Given the description of an element on the screen output the (x, y) to click on. 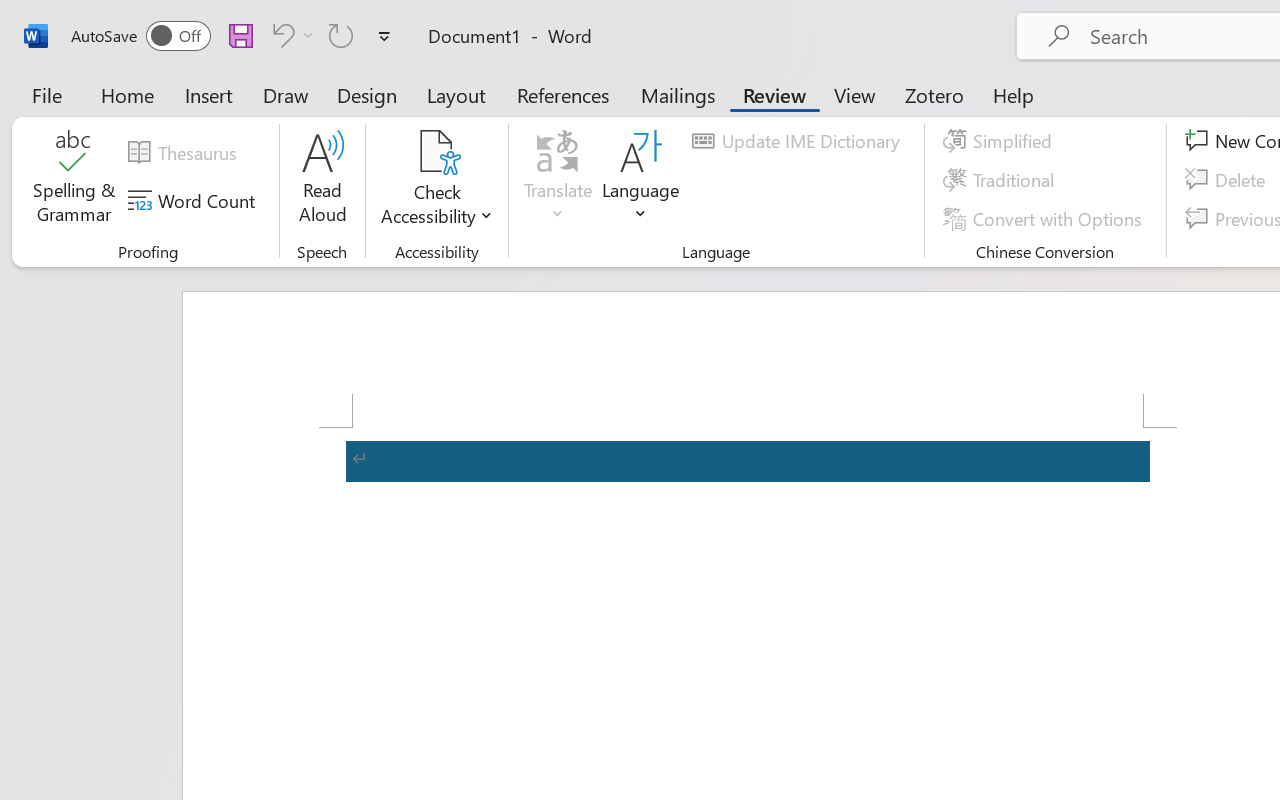
Undo Apply Quick Style Set (290, 35)
Check Accessibility (436, 151)
Update IME Dictionary... (799, 141)
Delete (1227, 179)
